Given the description of an element on the screen output the (x, y) to click on. 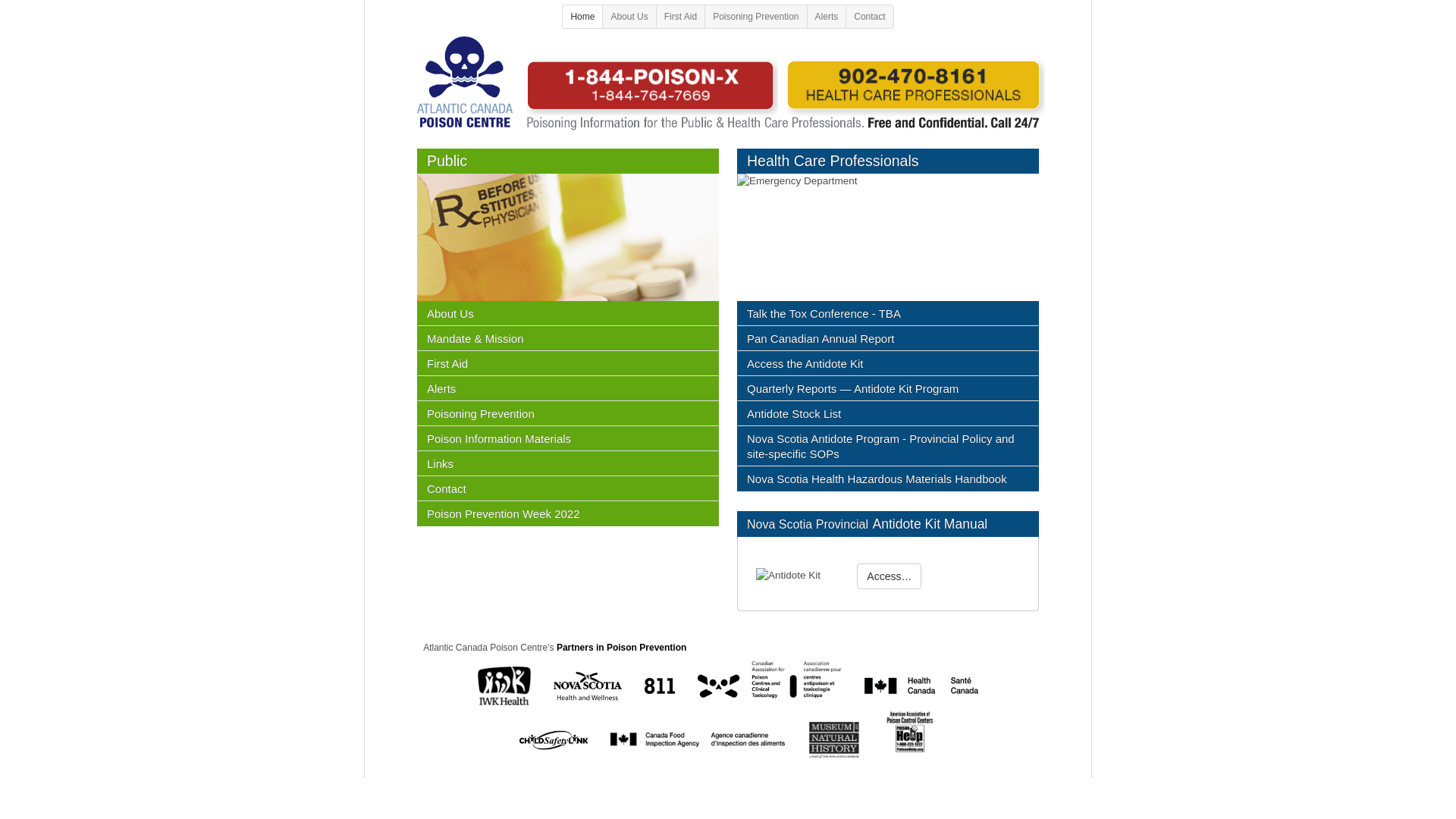
Alerts Element type: text (567, 388)
About Us Element type: text (567, 313)
Access the Antidote Kit Element type: text (887, 363)
Antidote Stock List Element type: text (887, 413)
Poisoning Prevention Element type: text (755, 16)
Contact Element type: text (567, 488)
Health Canada, opens in new window Element type: text (921, 685)
Poison Prevention Week 2022 Element type: text (567, 513)
First Aid Element type: text (567, 363)
Alerts Element type: text (826, 16)
IWK Health Centre, opens in new window Element type: text (503, 685)
Home Element type: text (581, 16)
Child Safety Link, opens in new window Element type: text (553, 739)
Nova Scotia Health Hazardous Materials Handbook Element type: text (887, 478)
Talk the Tox Conference - TBA Element type: text (887, 313)
Poison Information Materials Element type: text (567, 438)
Canadian Food Inspection Agency, opens in new window Element type: text (697, 739)
Contact Element type: text (869, 16)
Poisoning Prevention Element type: text (567, 413)
Pan Canadian Annual Report Element type: text (887, 338)
Links Element type: text (567, 463)
811 Nova Scotia, opens in new window Element type: text (659, 685)
Mandate & Mission Element type: text (567, 338)
First Aid Element type: text (679, 16)
About Us Element type: text (628, 16)
Nova Scotia Museum, opens in new window Element type: text (833, 739)
